Given the description of an element on the screen output the (x, y) to click on. 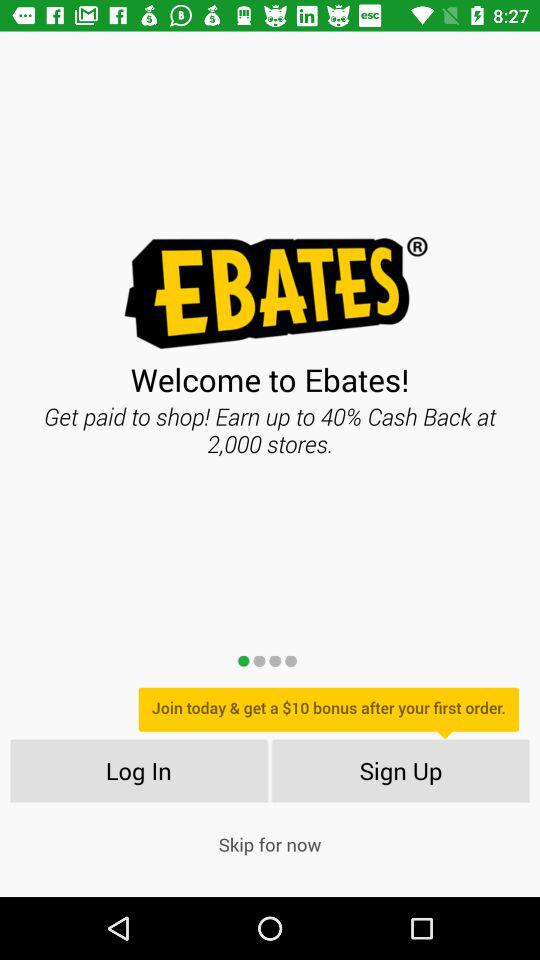
turn off item at the bottom right corner (400, 770)
